Given the description of an element on the screen output the (x, y) to click on. 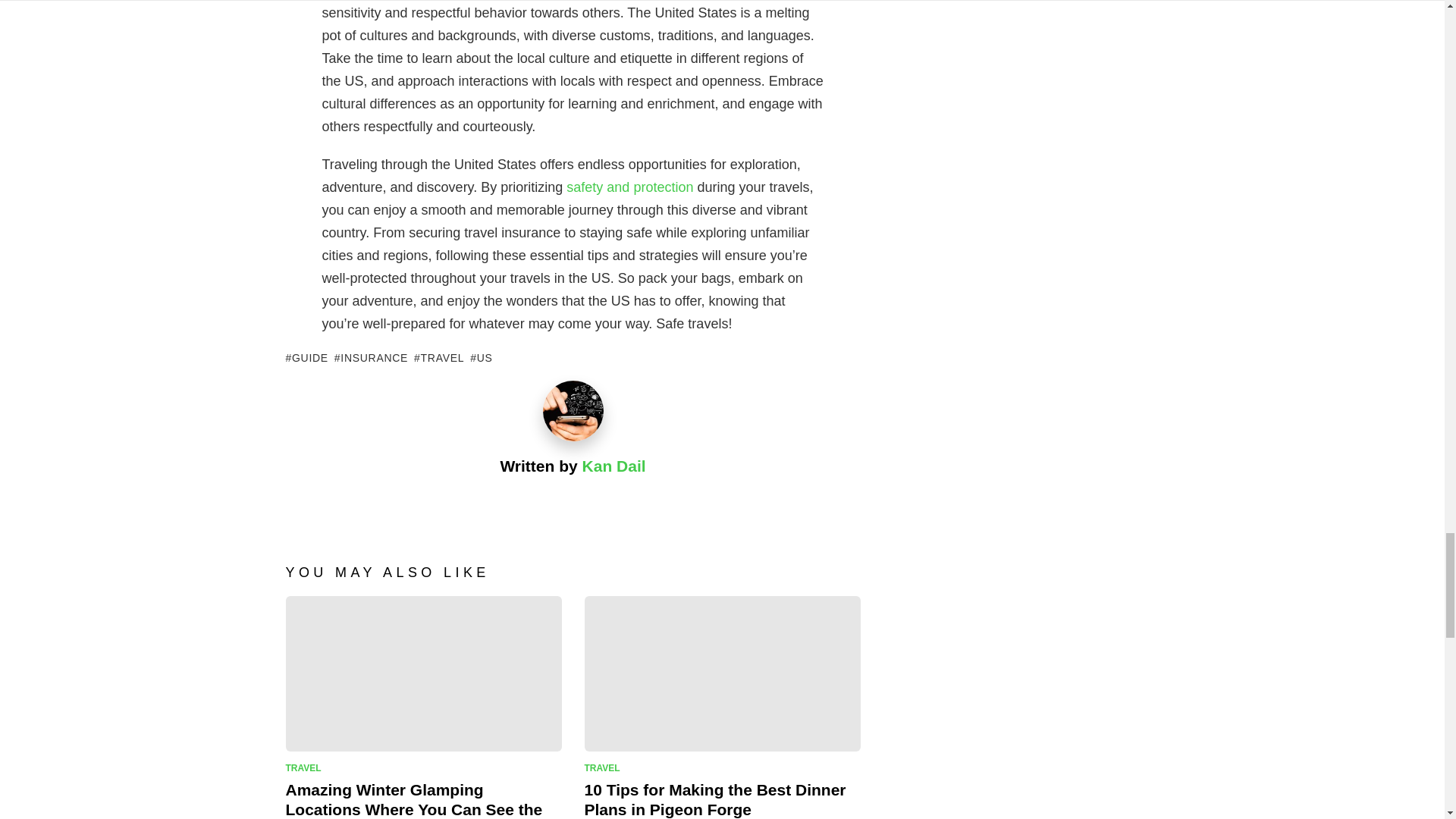
safety and protection (629, 186)
10 Tips for Making the Best Dinner Plans in Pigeon Forge (714, 799)
TRAVEL (438, 357)
INSURANCE (370, 357)
TRAVEL (604, 767)
TRAVEL (305, 767)
10 Tips for Making the Best Dinner Plans in Pigeon Forge (721, 673)
US (481, 357)
GUIDE (306, 357)
Kan Dail (614, 466)
